Given the description of an element on the screen output the (x, y) to click on. 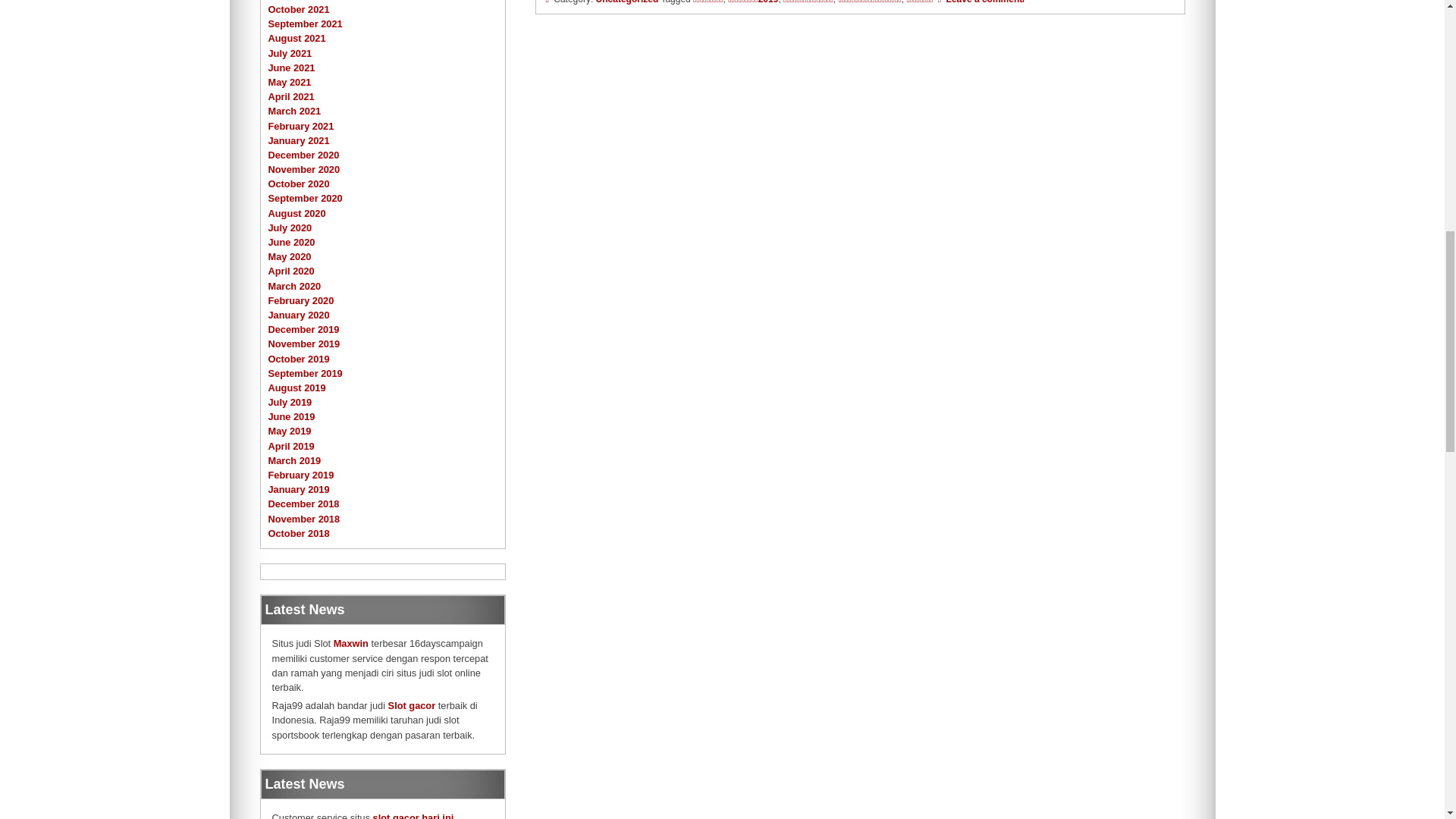
Uncategorized (627, 2)
